Given the description of an element on the screen output the (x, y) to click on. 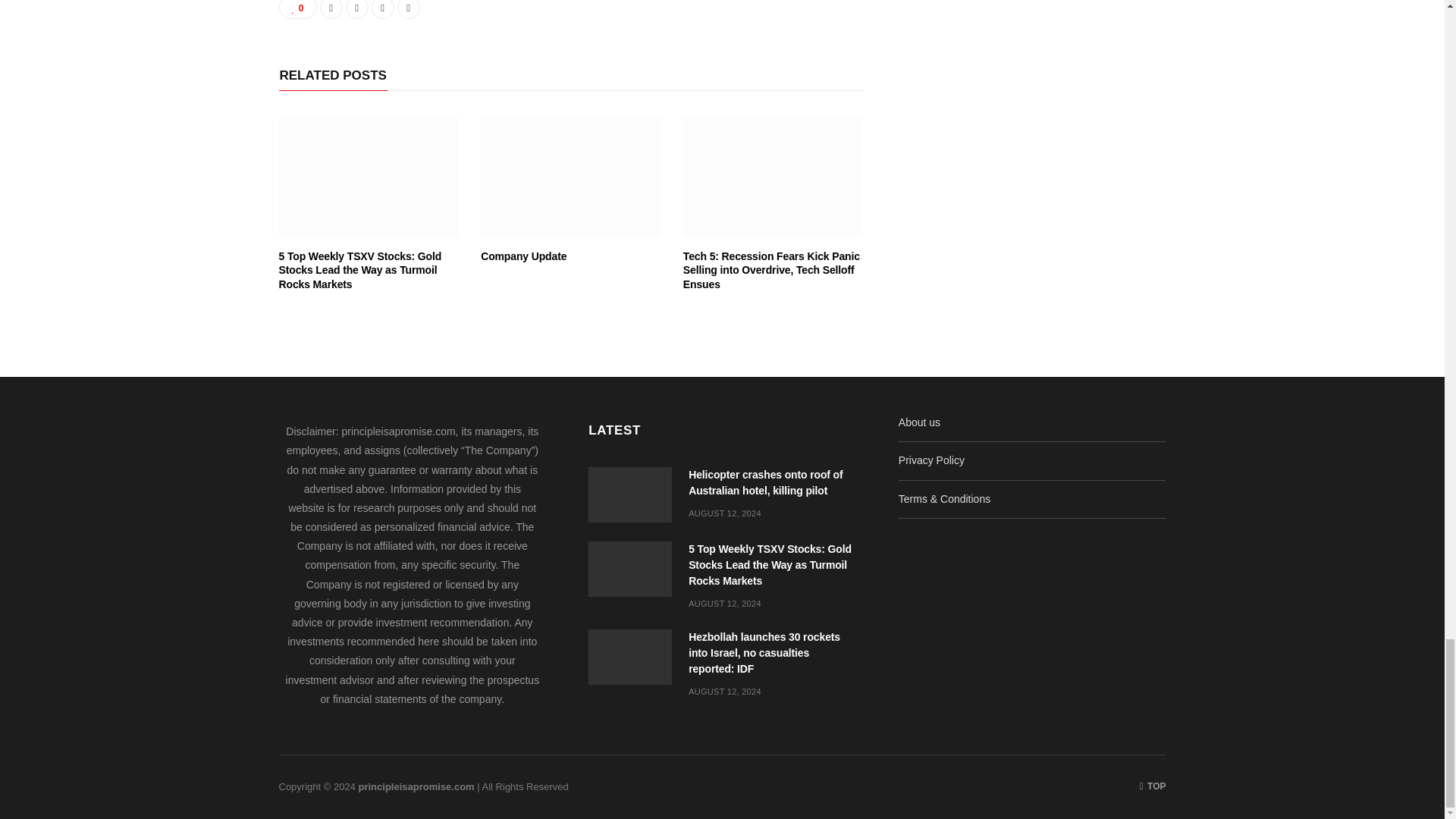
0 (298, 9)
Company Update (523, 256)
